Given the description of an element on the screen output the (x, y) to click on. 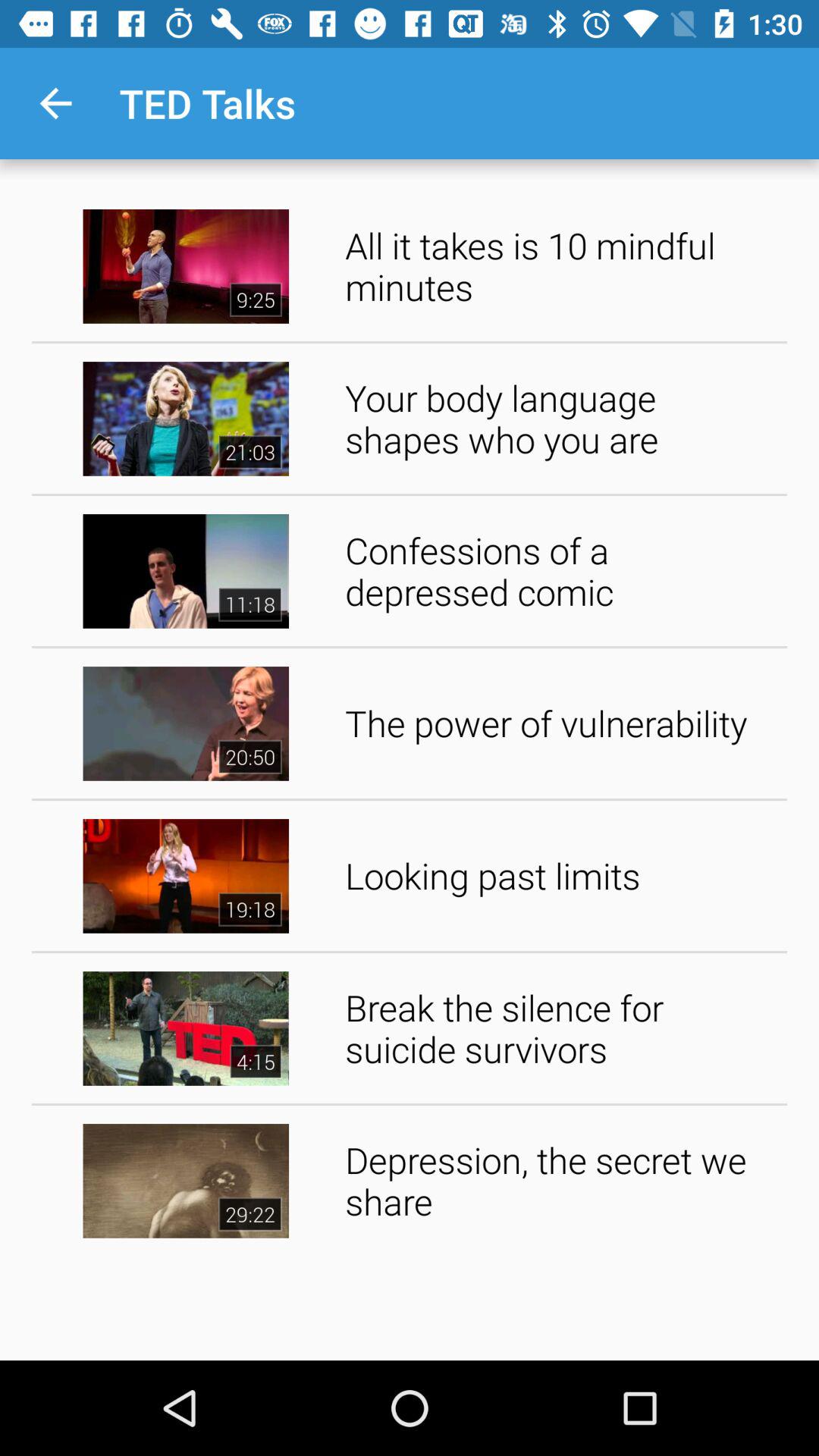
swipe until the the power of (560, 723)
